Given the description of an element on the screen output the (x, y) to click on. 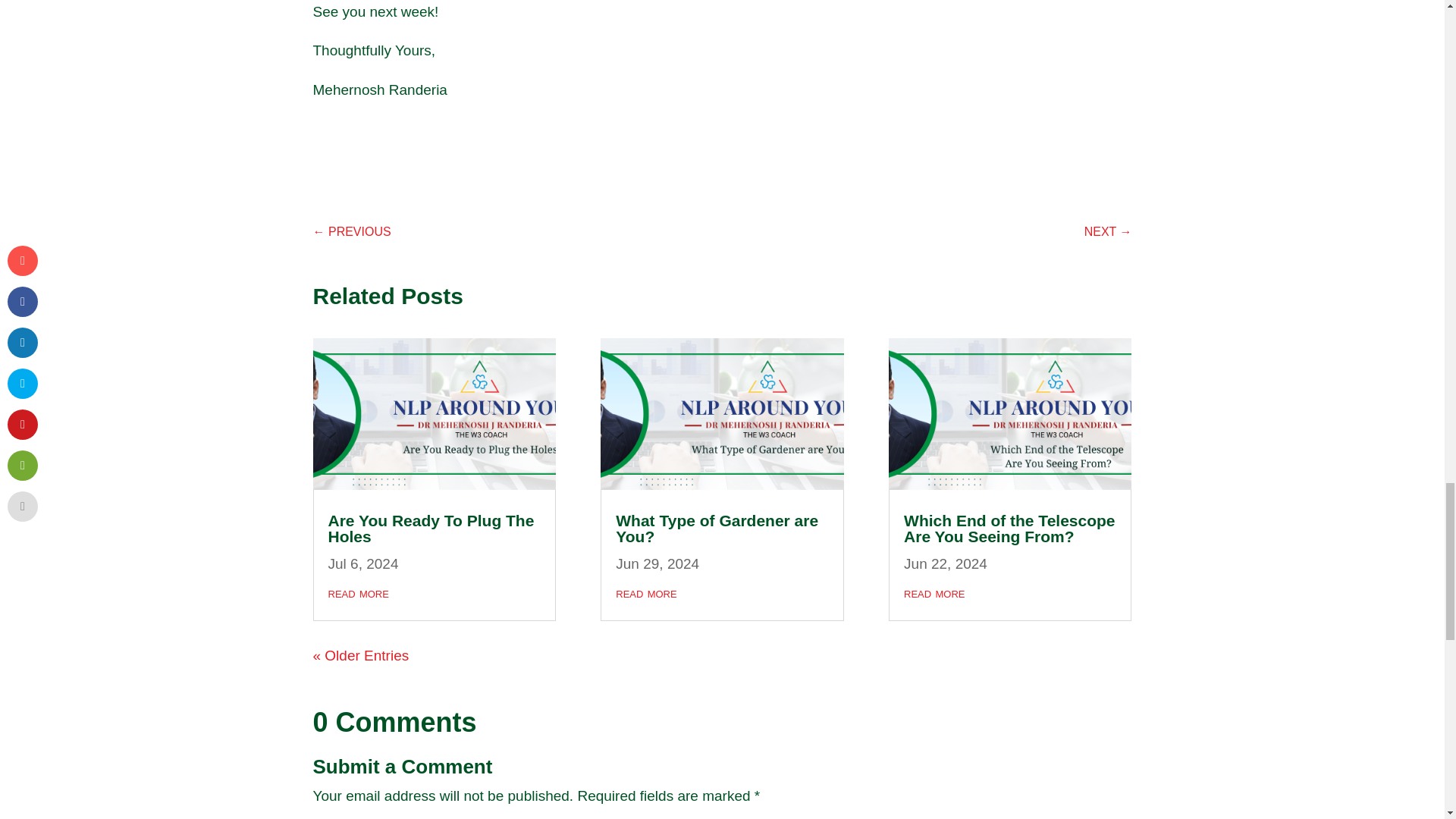
What Type of Gardener are You? (716, 528)
read more (357, 592)
read more (933, 592)
Are You Ready To Plug The Holes (430, 528)
Which End of the Telescope Are You Seeing From? (1009, 528)
read more (646, 592)
